Given the description of an element on the screen output the (x, y) to click on. 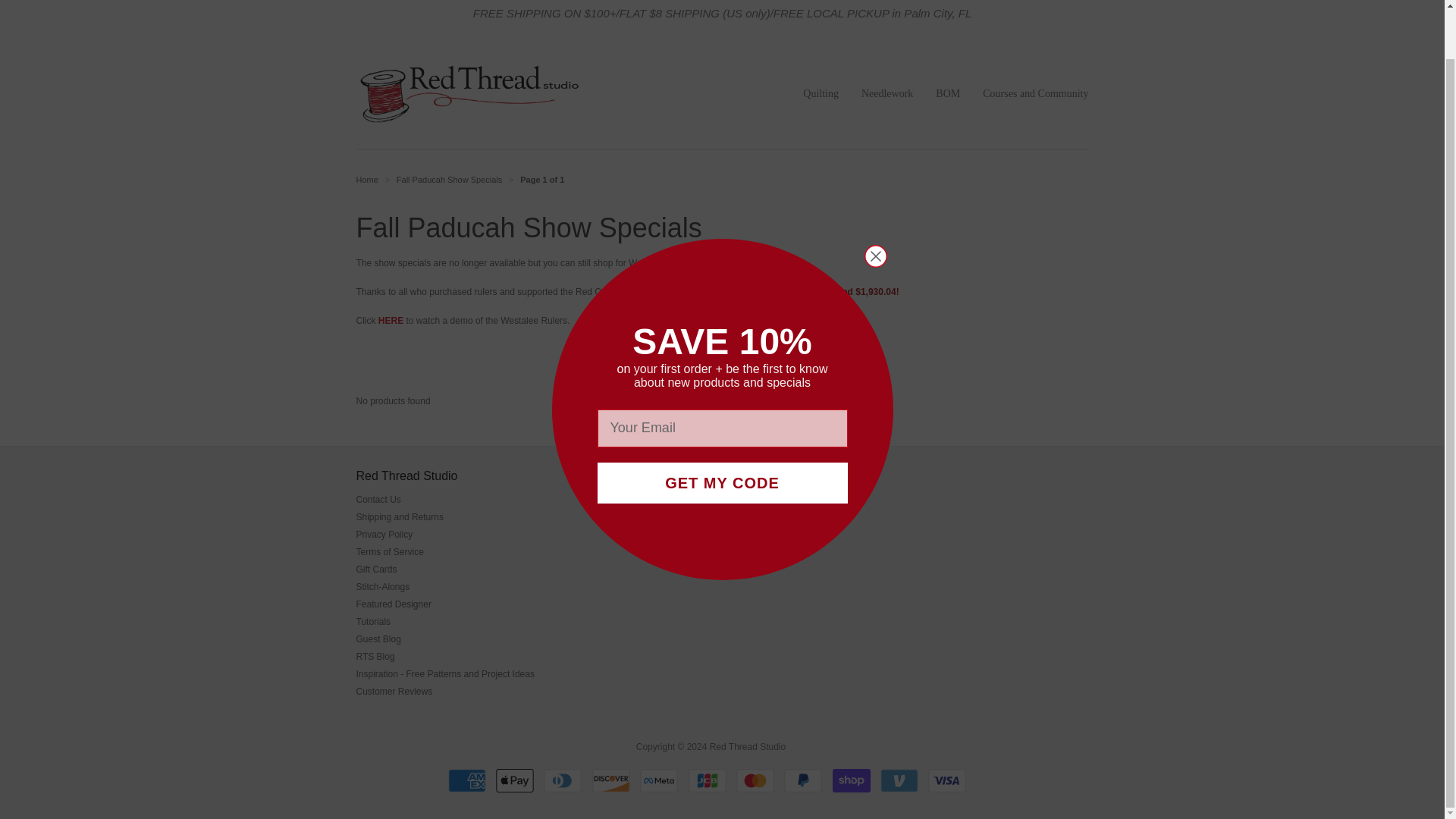
Red Thread Studio (367, 179)
Westalee Ruler Demo (390, 320)
Tutorials (373, 621)
Contact Us (378, 499)
Shipping and Returns (400, 516)
Inspiration - Free Patterns and Project Ideas (445, 674)
Terms of Service (389, 552)
Stitch-Alongs (383, 586)
RTS Blog (375, 656)
Close dialog 1 (875, 203)
Privacy Policy (384, 534)
Featured Designer (393, 603)
Gift Cards (376, 569)
Fall Paducah Show Specials (449, 179)
Guest Blog (378, 638)
